Given the description of an element on the screen output the (x, y) to click on. 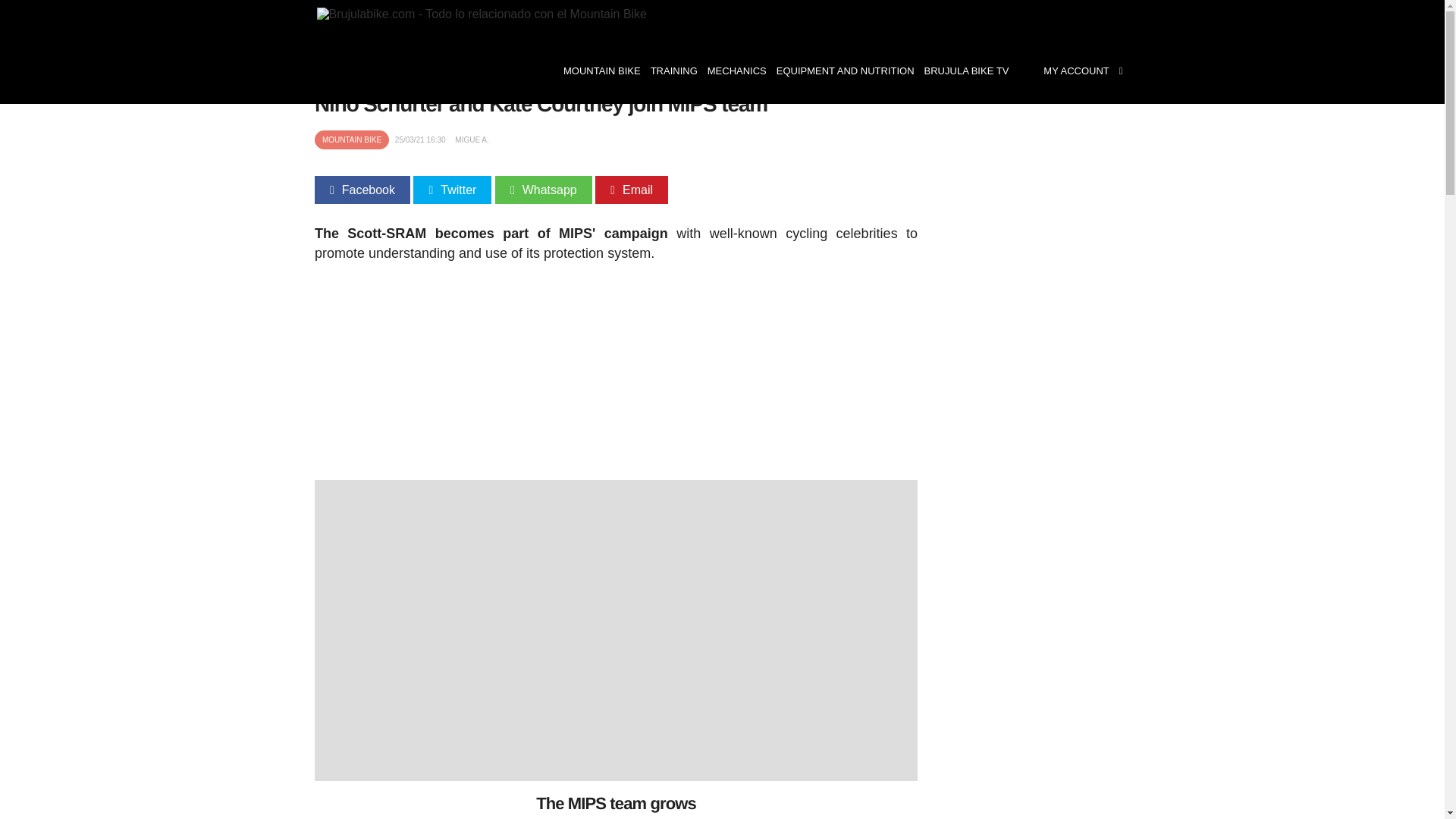
Mountain bike (601, 70)
BRUJULA BIKE TV (965, 70)
MOUNTAIN BIKE (601, 70)
Mechanics (736, 70)
Whatsapp (543, 189)
Equipment and nutrition (844, 70)
Twitter (452, 189)
EQUIPMENT AND NUTRITION (844, 70)
MECHANICS (736, 70)
Facebook (362, 189)
